Given the description of an element on the screen output the (x, y) to click on. 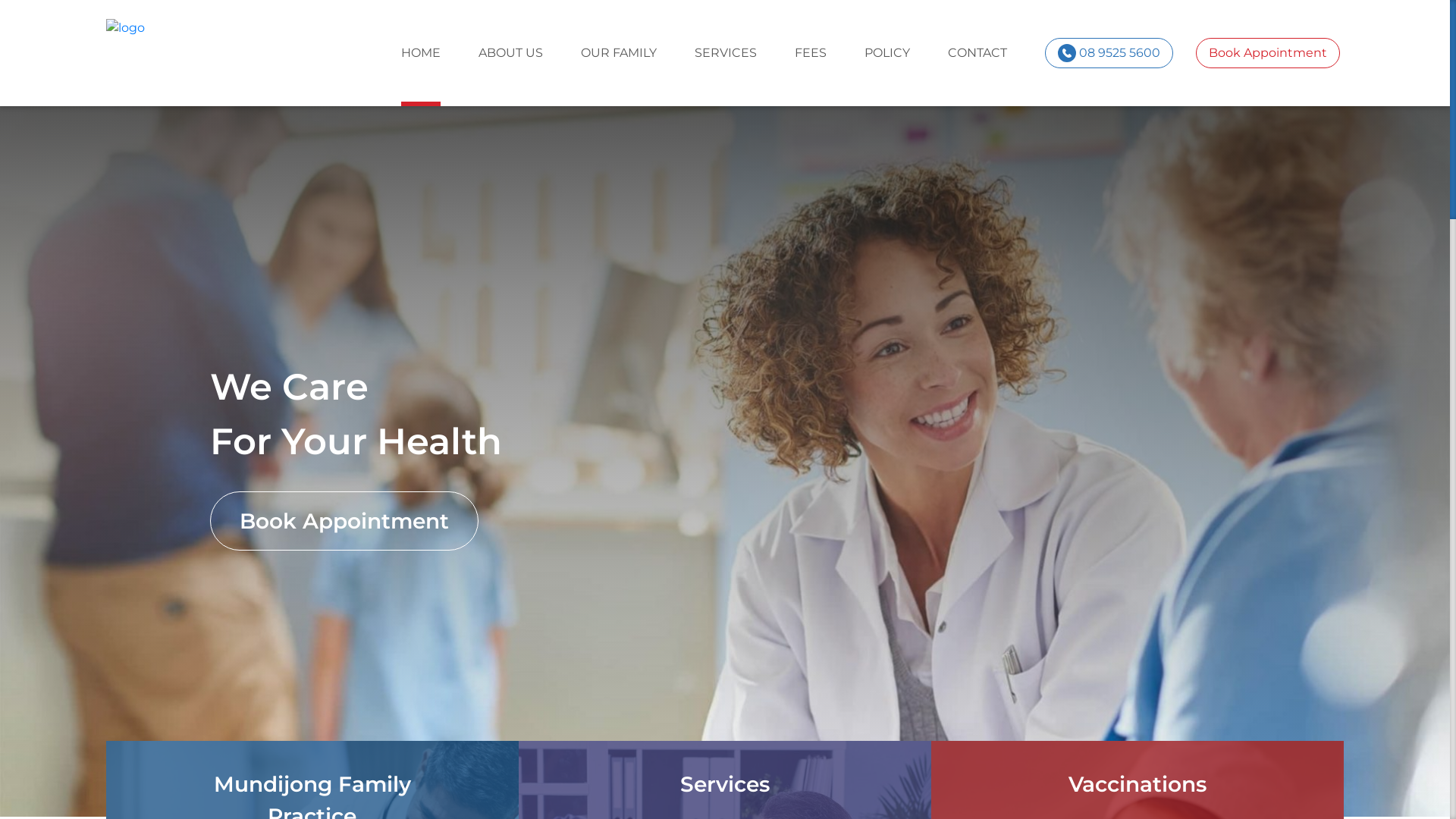
Book Appointment Element type: text (1267, 53)
SERVICES Element type: text (725, 53)
ABOUT US Element type: text (510, 53)
POLICY Element type: text (887, 53)
CONTACT Element type: text (977, 53)
OUR FAMILY Element type: text (618, 53)
FEES Element type: text (810, 53)
08 9525 5600 Element type: text (1108, 53)
HOME Element type: text (420, 53)
Book Appointment Element type: text (344, 520)
